Given the description of an element on the screen output the (x, y) to click on. 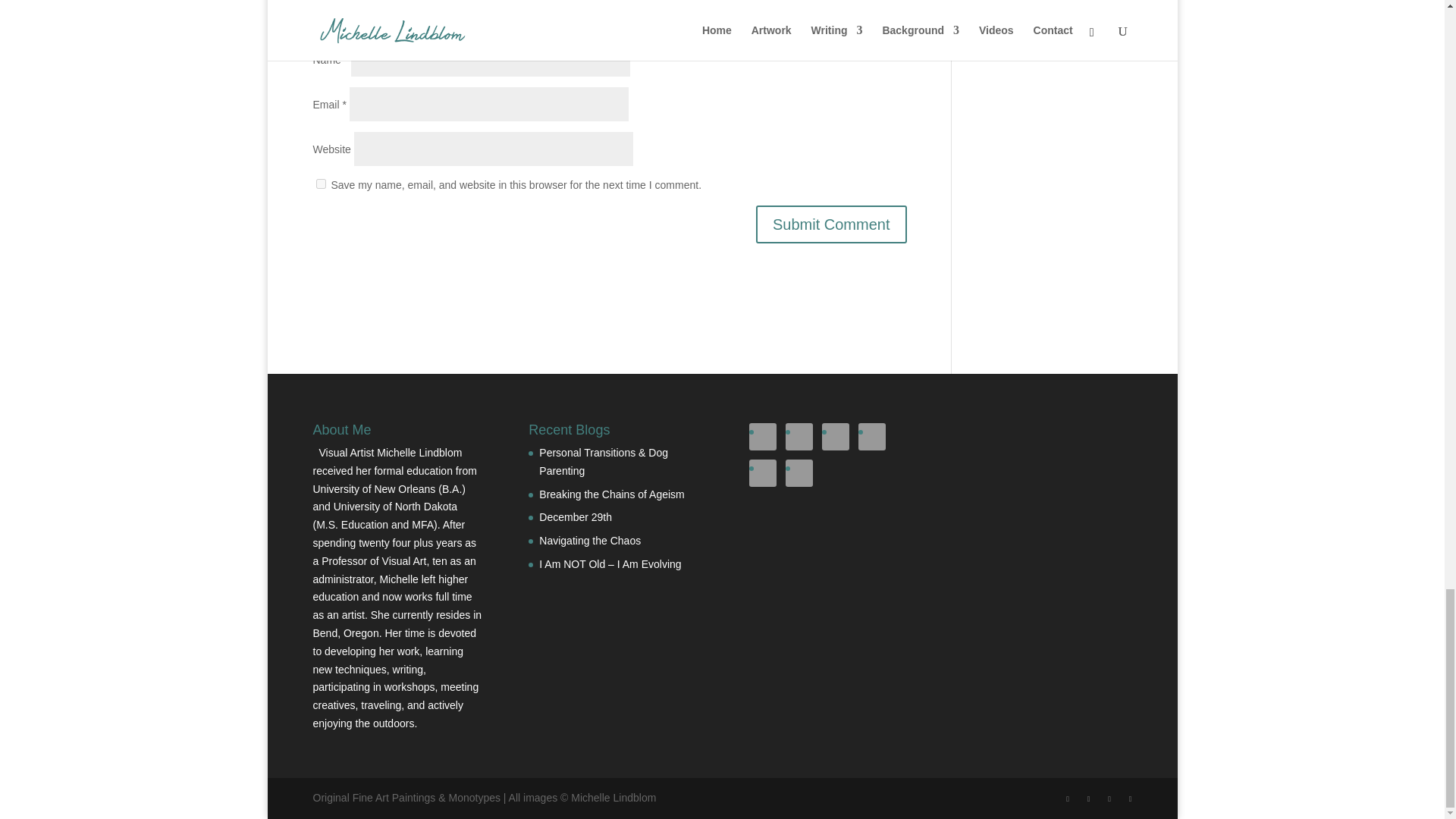
subscribe (319, 21)
Navigating the Chaos (589, 540)
Submit Comment (831, 224)
Submit Comment (831, 224)
yes (319, 184)
Breaking the Chains of Ageism (611, 494)
December 29th (574, 517)
